Given the description of an element on the screen output the (x, y) to click on. 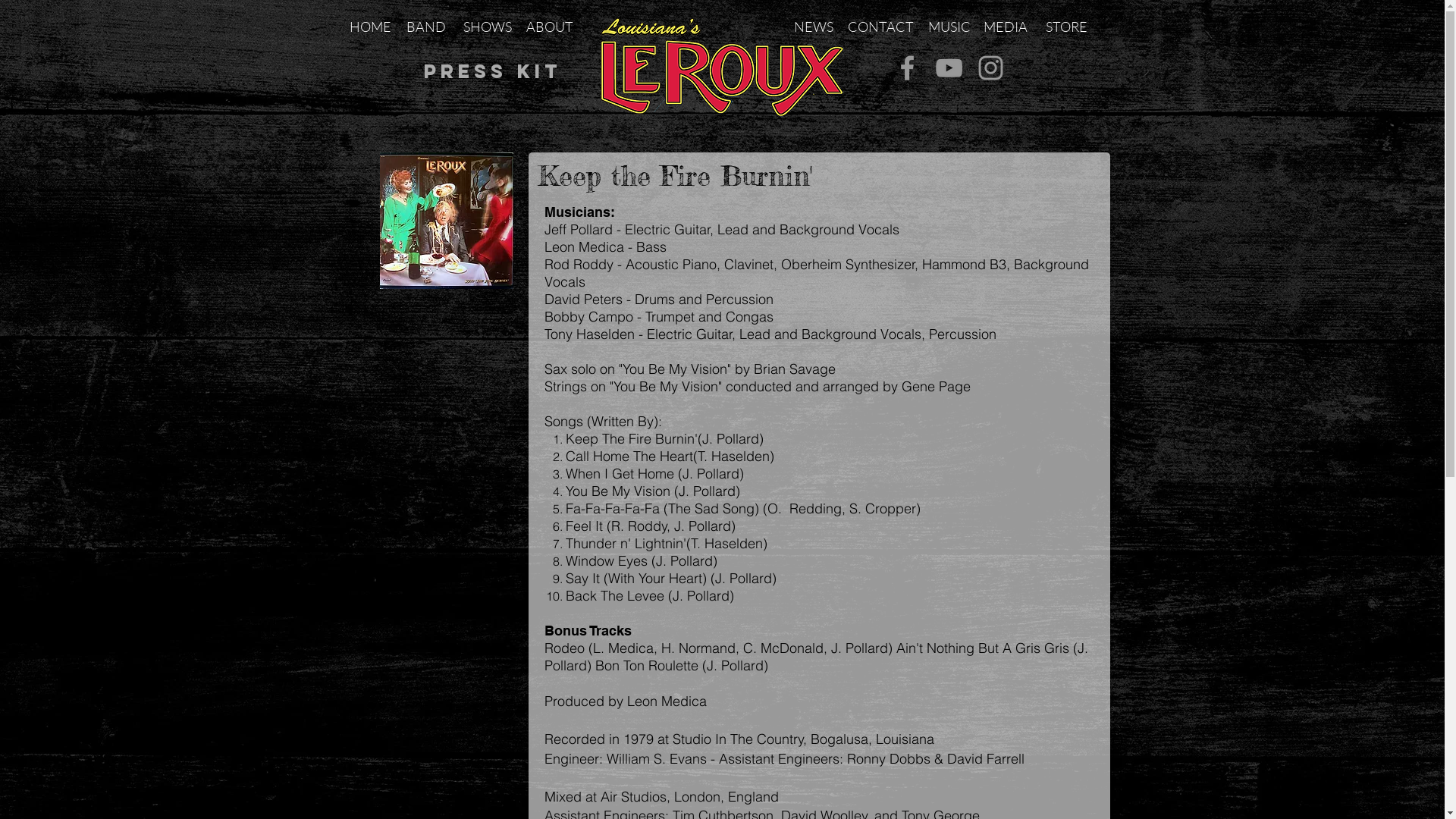
ABOUT Element type: text (549, 26)
SHOWS Element type: text (486, 26)
NEWS Element type: text (813, 26)
Press Kit Element type: text (492, 71)
BAND Element type: text (425, 26)
MEDIA Element type: text (1004, 26)
HOME Element type: text (369, 26)
CONTACT Element type: text (880, 26)
KeeptheFire.jpg Element type: hover (445, 220)
MUSIC Element type: text (949, 26)
